Given the description of an element on the screen output the (x, y) to click on. 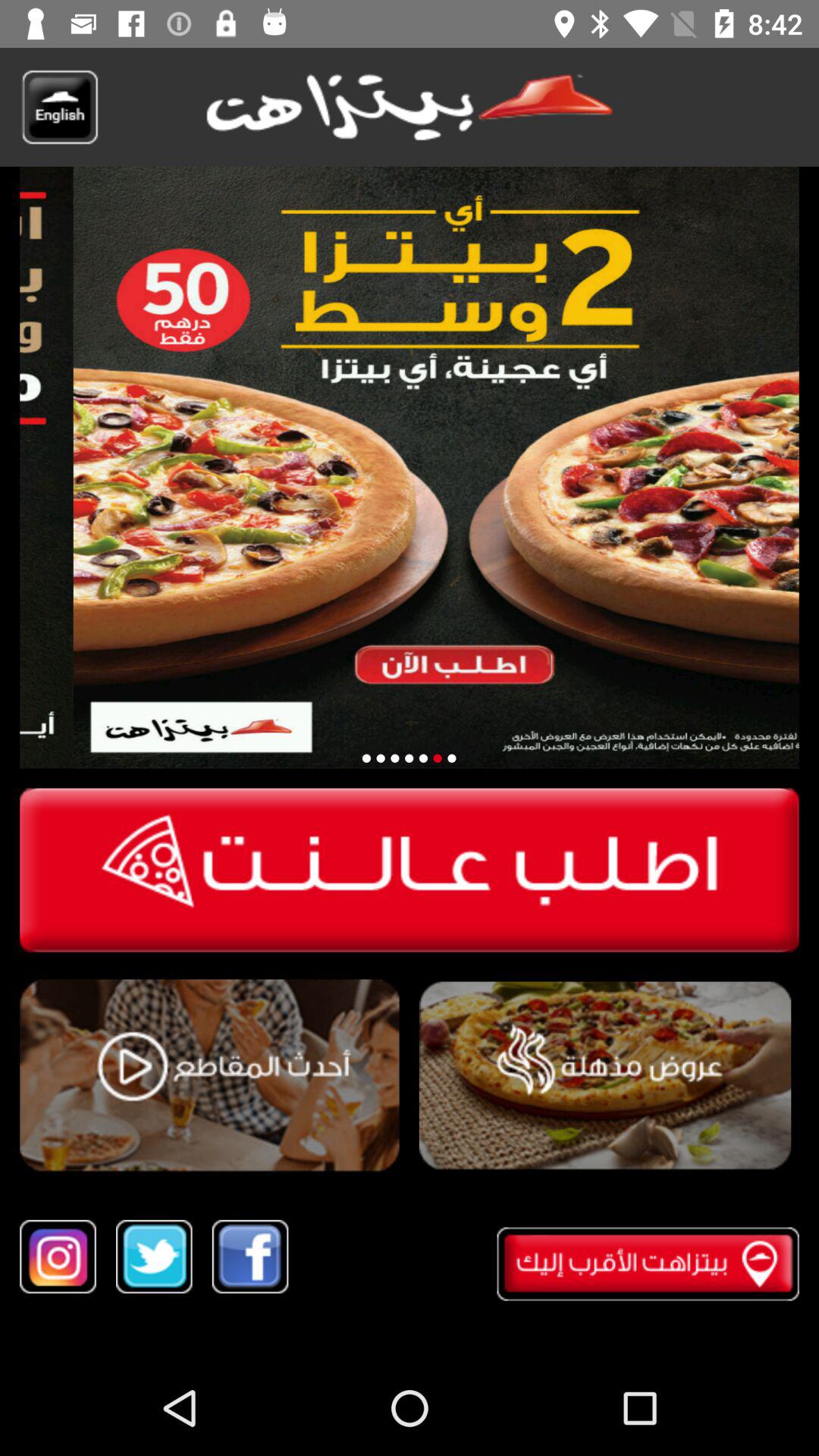
next page icon button (408, 758)
